Given the description of an element on the screen output the (x, y) to click on. 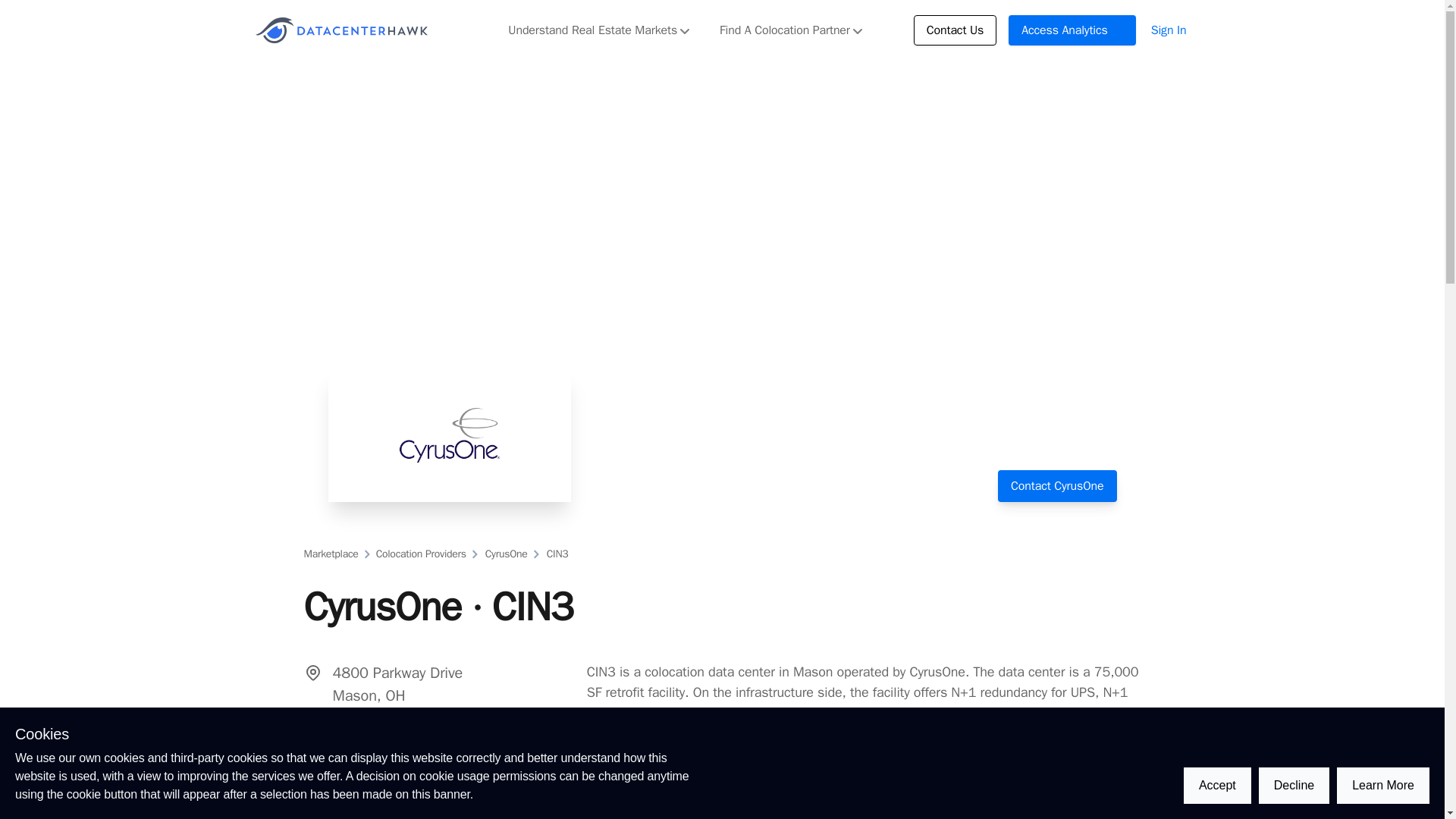
Colocation Providers (420, 554)
www.cyrusone.com (405, 748)
Access Analytics (1072, 30)
Find A Colocation Partner (790, 30)
CyrusOne (505, 554)
Understand Real Estate Markets (599, 30)
CIN3 (556, 554)
Contact CyrusOne (1056, 486)
Marketplace (330, 554)
Sign In (1168, 30)
